Given the description of an element on the screen output the (x, y) to click on. 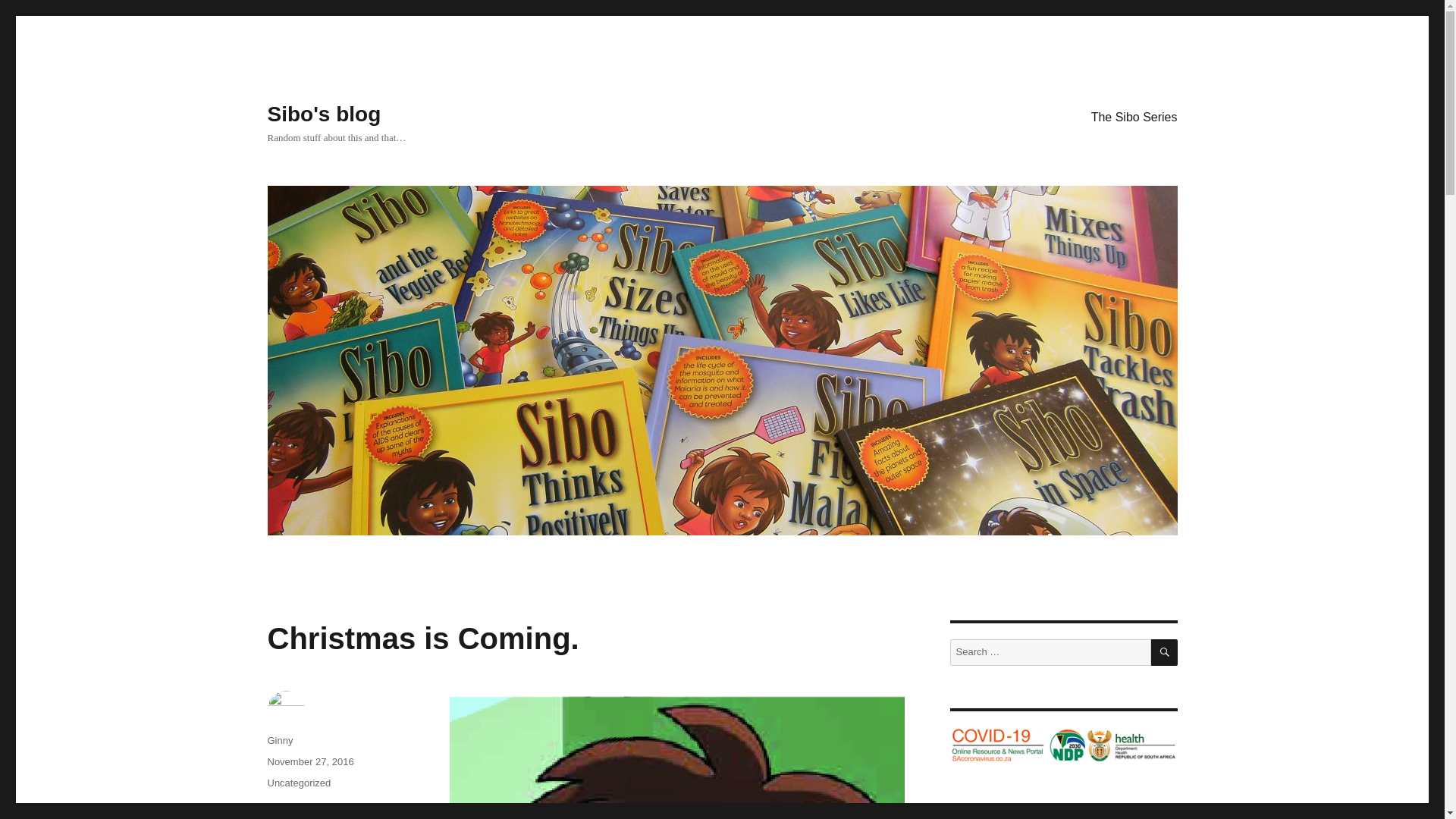
Sibo's blog (323, 114)
The Sibo Series (1134, 116)
November 27, 2016 (309, 761)
Ginny (279, 740)
Uncategorized (298, 782)
SEARCH (1164, 652)
